Given the description of an element on the screen output the (x, y) to click on. 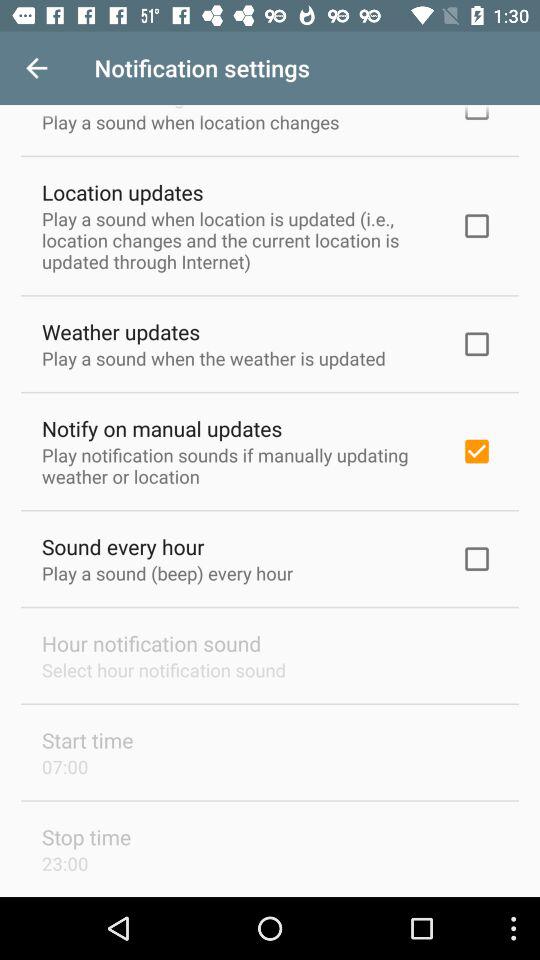
turn off the icon above sound every hour item (238, 465)
